Given the description of an element on the screen output the (x, y) to click on. 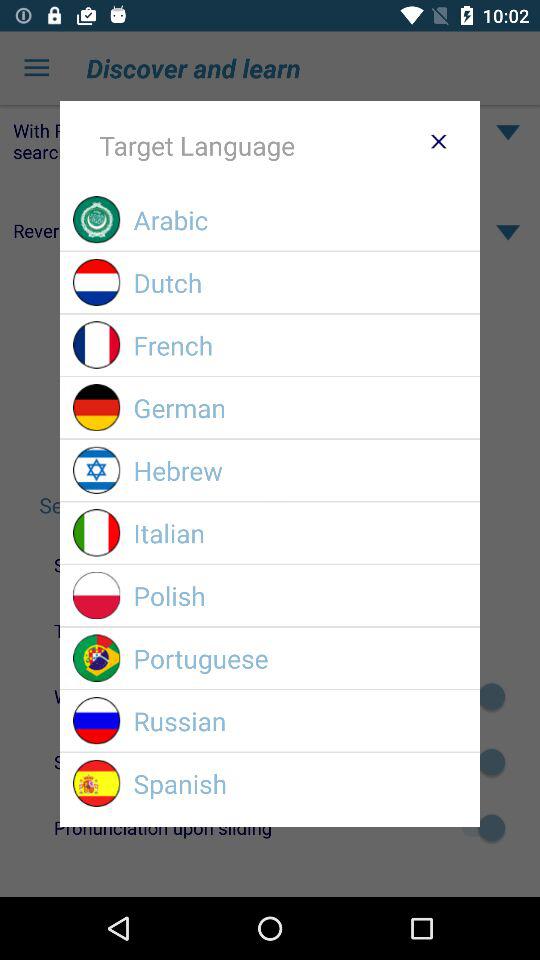
jump to spanish icon (300, 783)
